Given the description of an element on the screen output the (x, y) to click on. 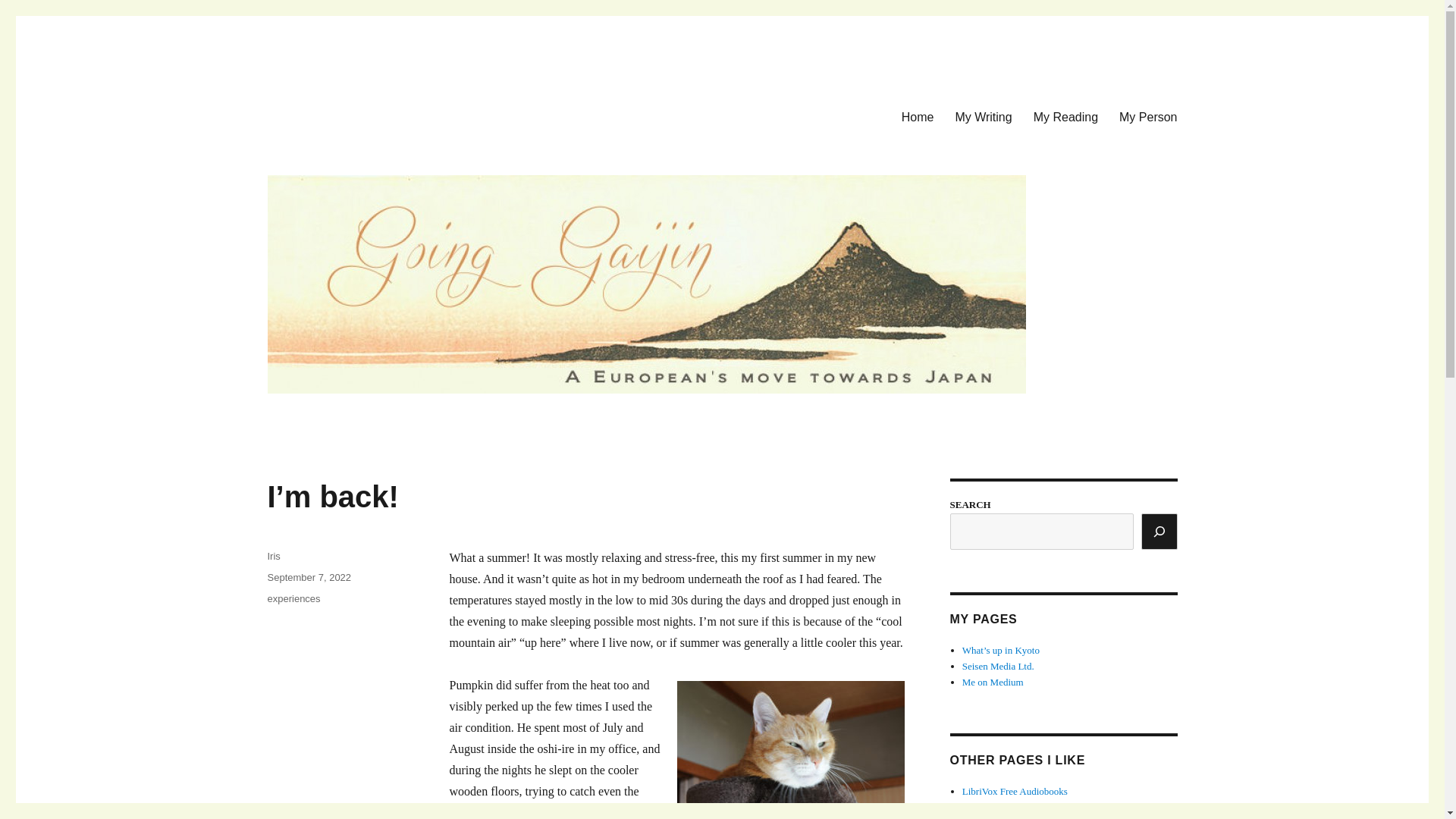
goinggaijin.com (347, 114)
Me on Medium (992, 681)
September 7, 2022 (308, 577)
Seisen Media Ltd. (997, 665)
My Person (1148, 116)
Home (917, 116)
Writers in Kyoto (995, 818)
public domain audiobooks (1004, 807)
LibriVox Free Audiobooks (1014, 790)
experiences (293, 598)
My Writing (982, 116)
My Reading (1065, 116)
Iris (272, 555)
